Given the description of an element on the screen output the (x, y) to click on. 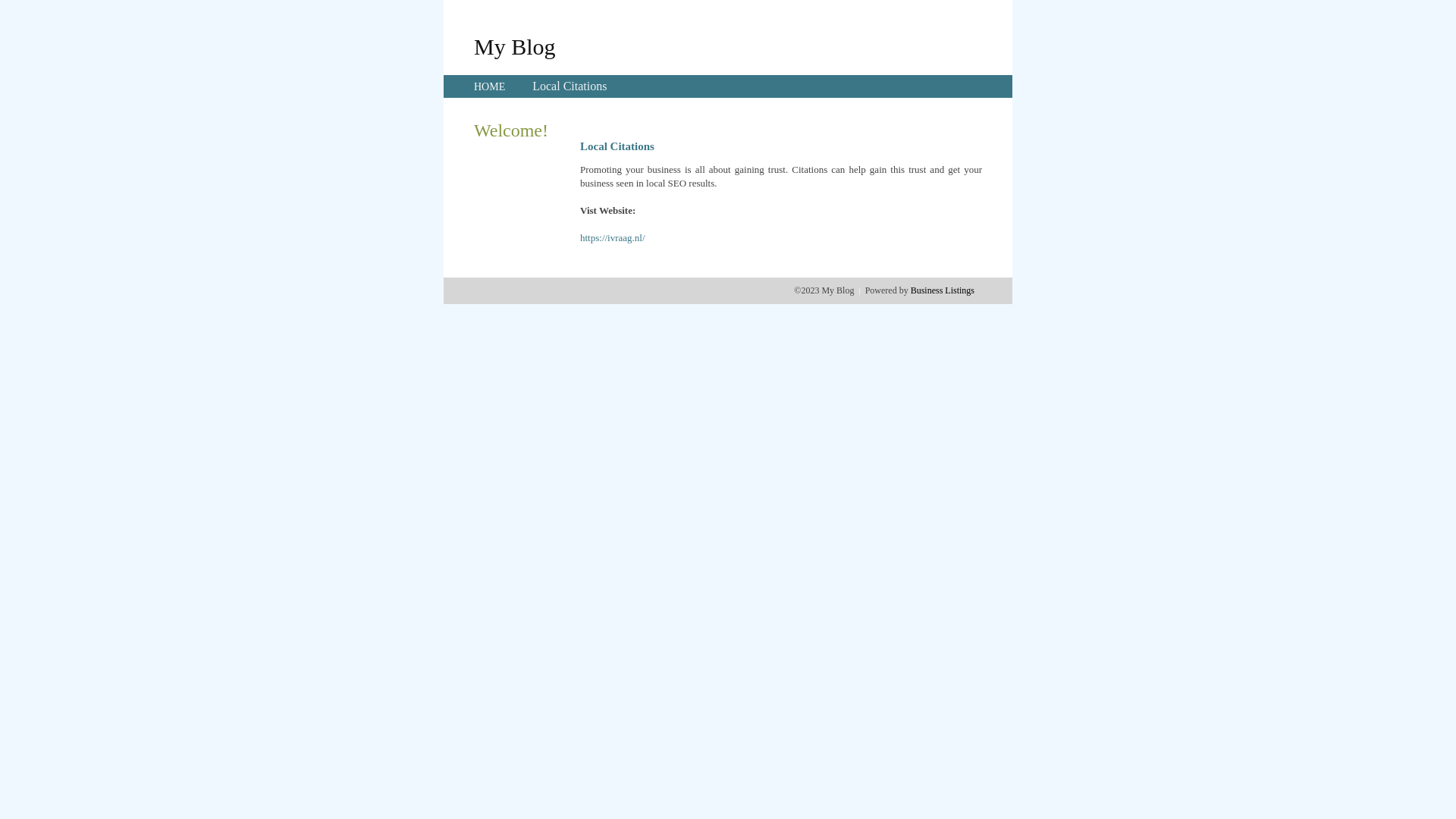
My Blog Element type: text (514, 46)
Business Listings Element type: text (942, 290)
https://ivraag.nl/ Element type: text (612, 237)
Local Citations Element type: text (569, 85)
HOME Element type: text (489, 86)
